Given the description of an element on the screen output the (x, y) to click on. 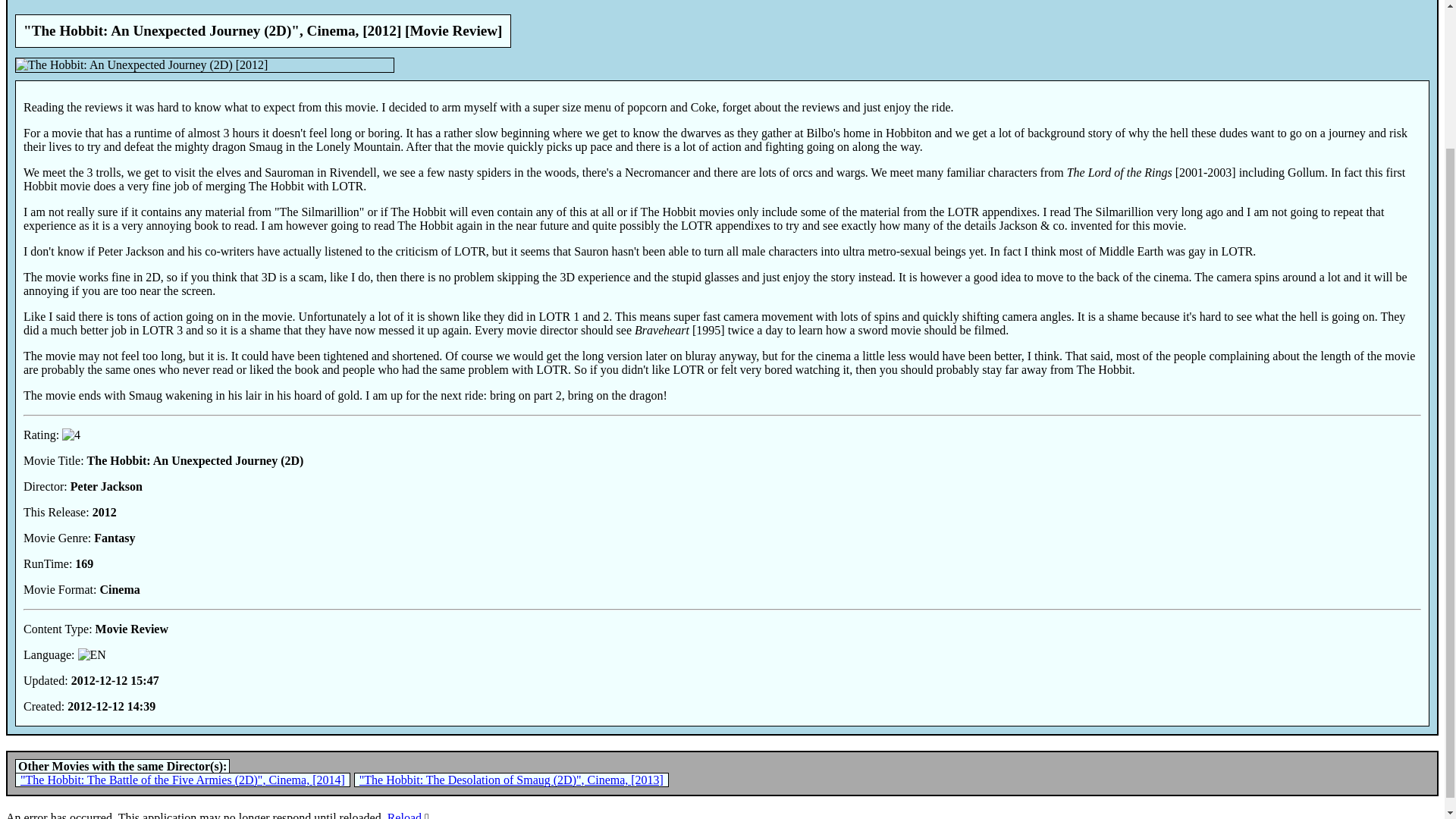
EN (92, 654)
